Given the description of an element on the screen output the (x, y) to click on. 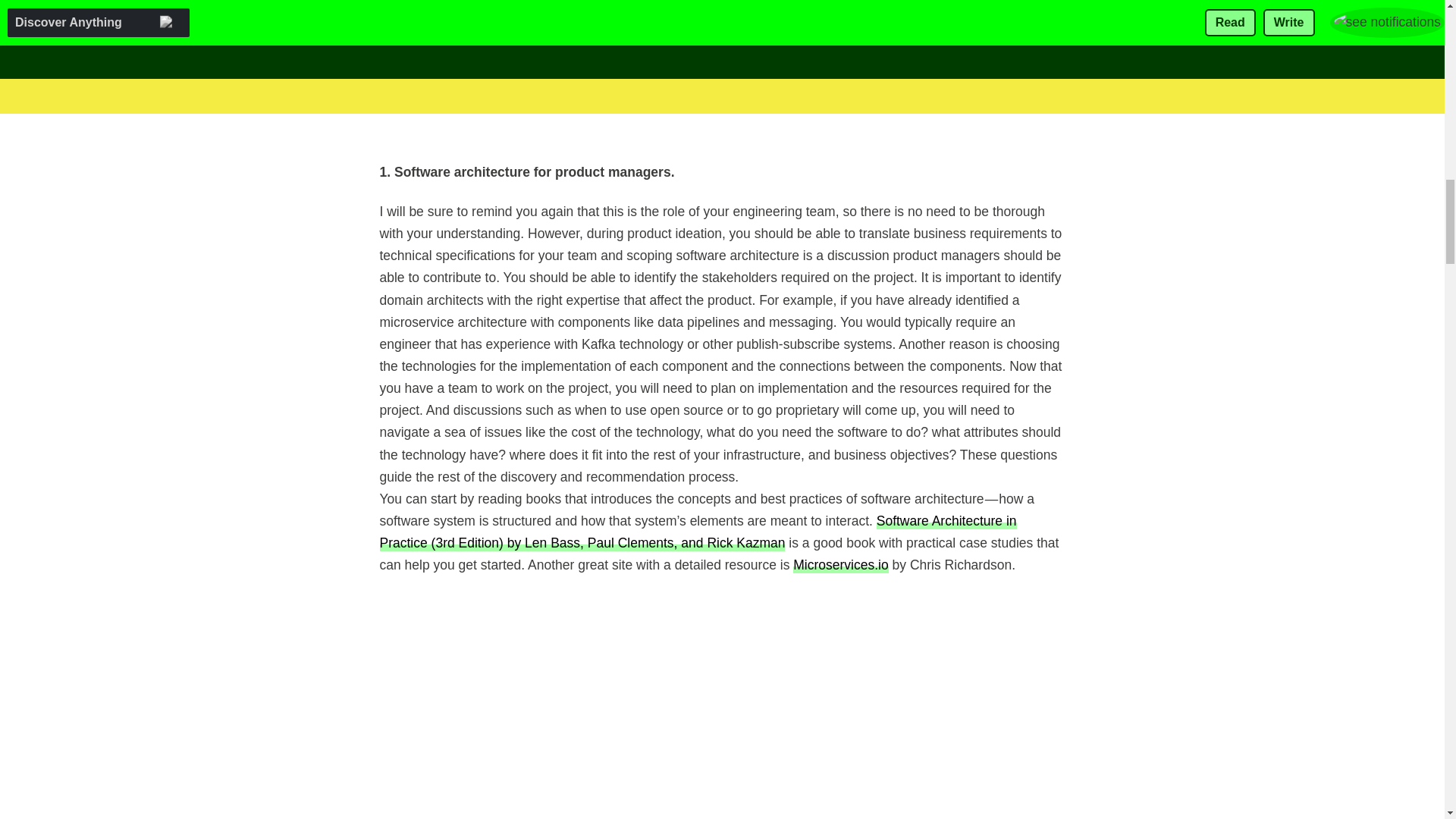
Microservices.io (840, 564)
